Given the description of an element on the screen output the (x, y) to click on. 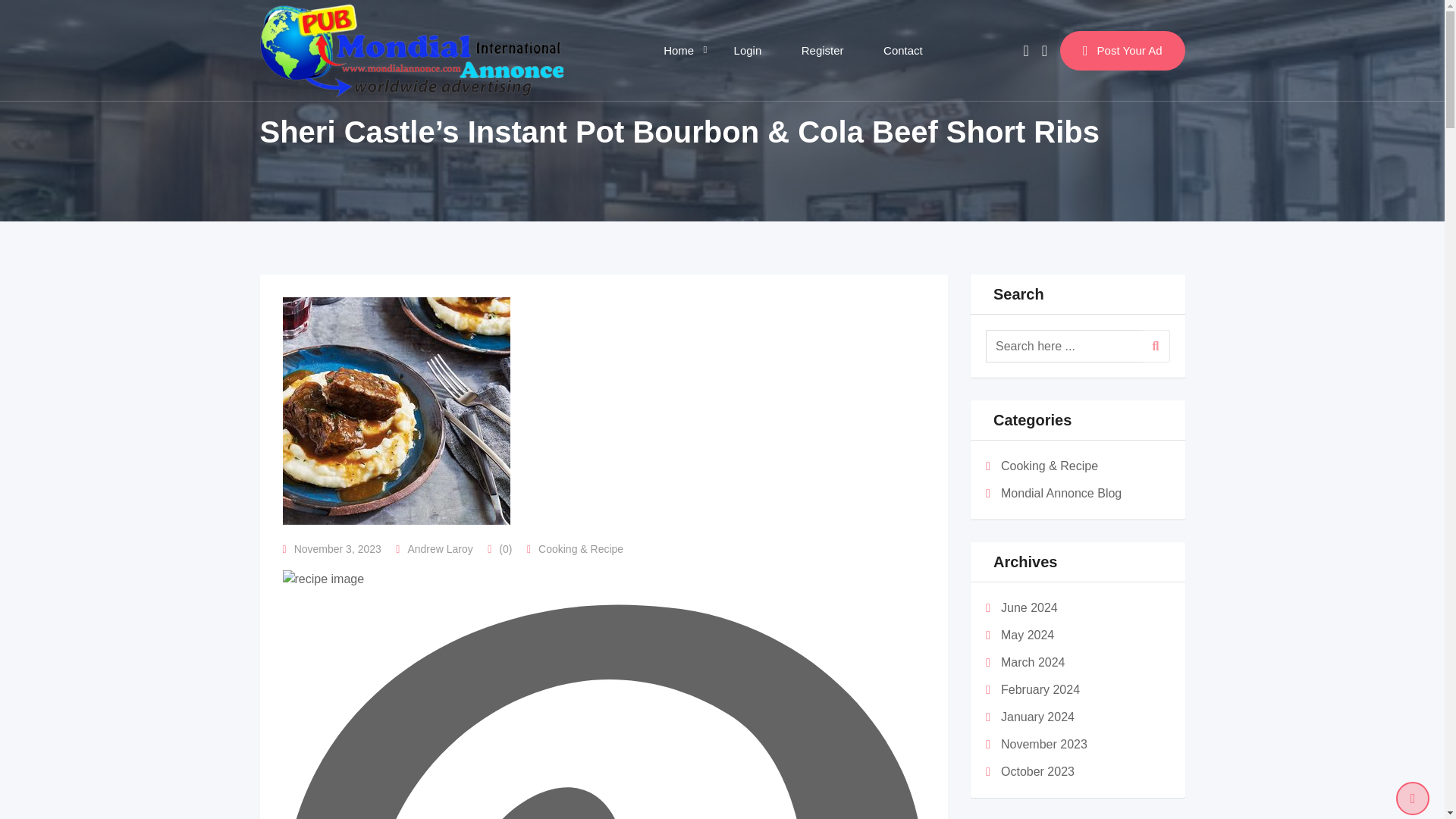
Andrew Laroy (439, 548)
Login (748, 50)
Home (678, 50)
Register (822, 50)
Post Your Ad (1122, 49)
Contact (902, 50)
